Given the description of an element on the screen output the (x, y) to click on. 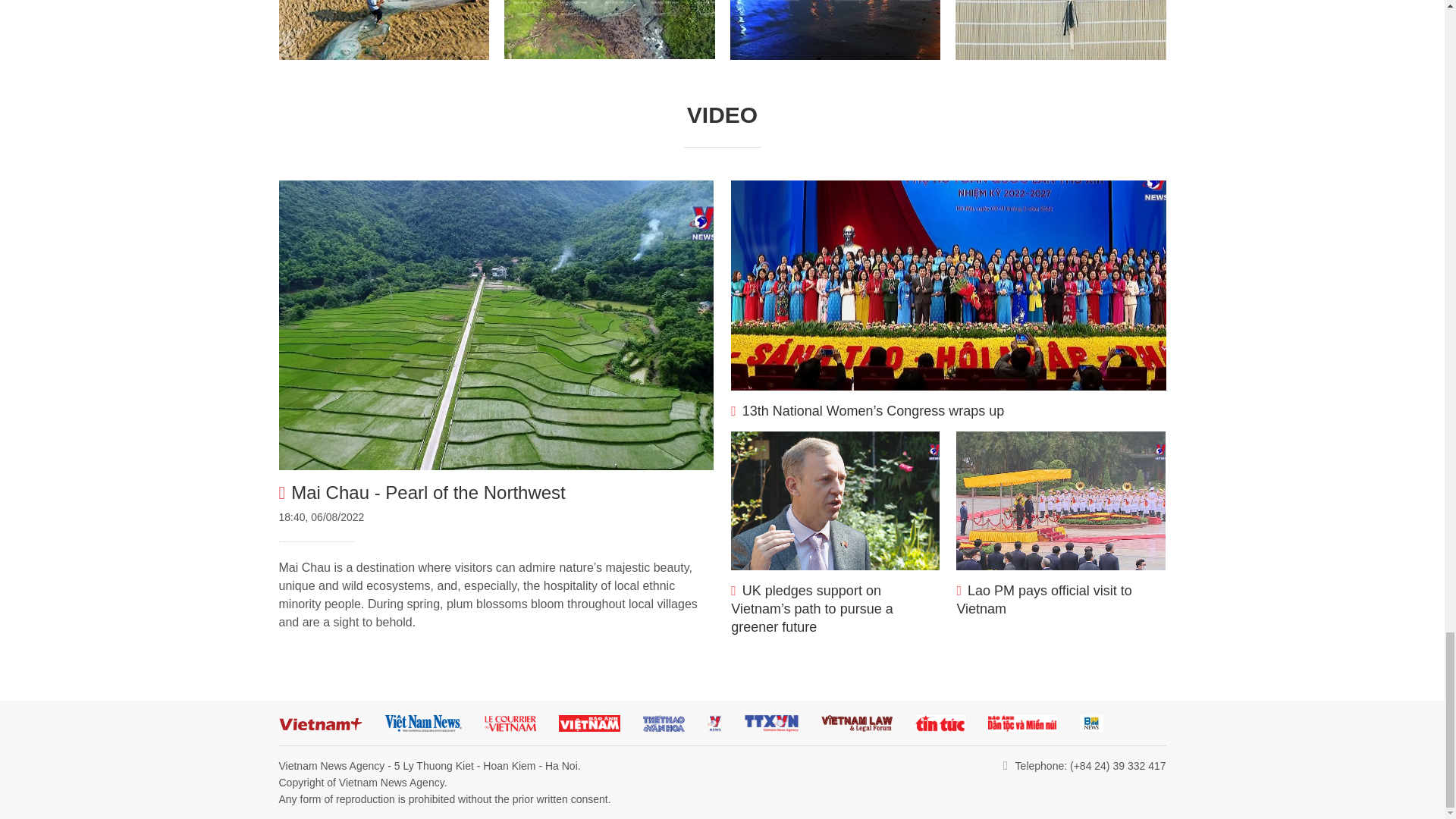
Fishermen pull in nets in Da Nang city (384, 29)
Binh Xa village home to Bodhi-leave-shaped fans (1060, 29)
Pristine Lieng Nung waterfall in Dak Nong province (608, 29)
Bridges over Han river (834, 29)
